Given the description of an element on the screen output the (x, y) to click on. 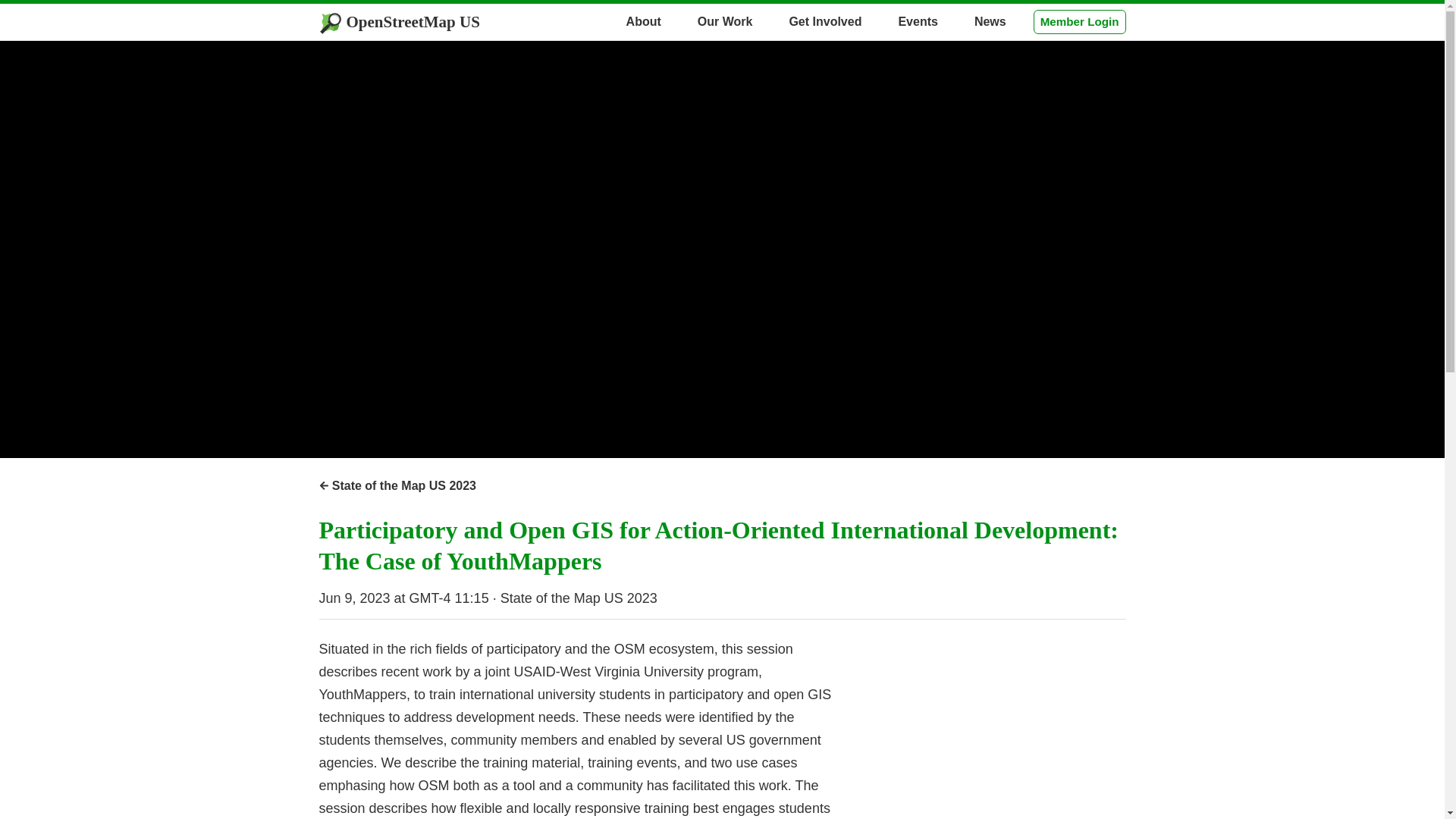
About (643, 22)
OpenStreetMap US (398, 22)
Get Involved (824, 22)
State of the Map US 2023 (397, 485)
Member Login (1079, 21)
News (990, 22)
Events (917, 22)
Our Work (725, 22)
